Given the description of an element on the screen output the (x, y) to click on. 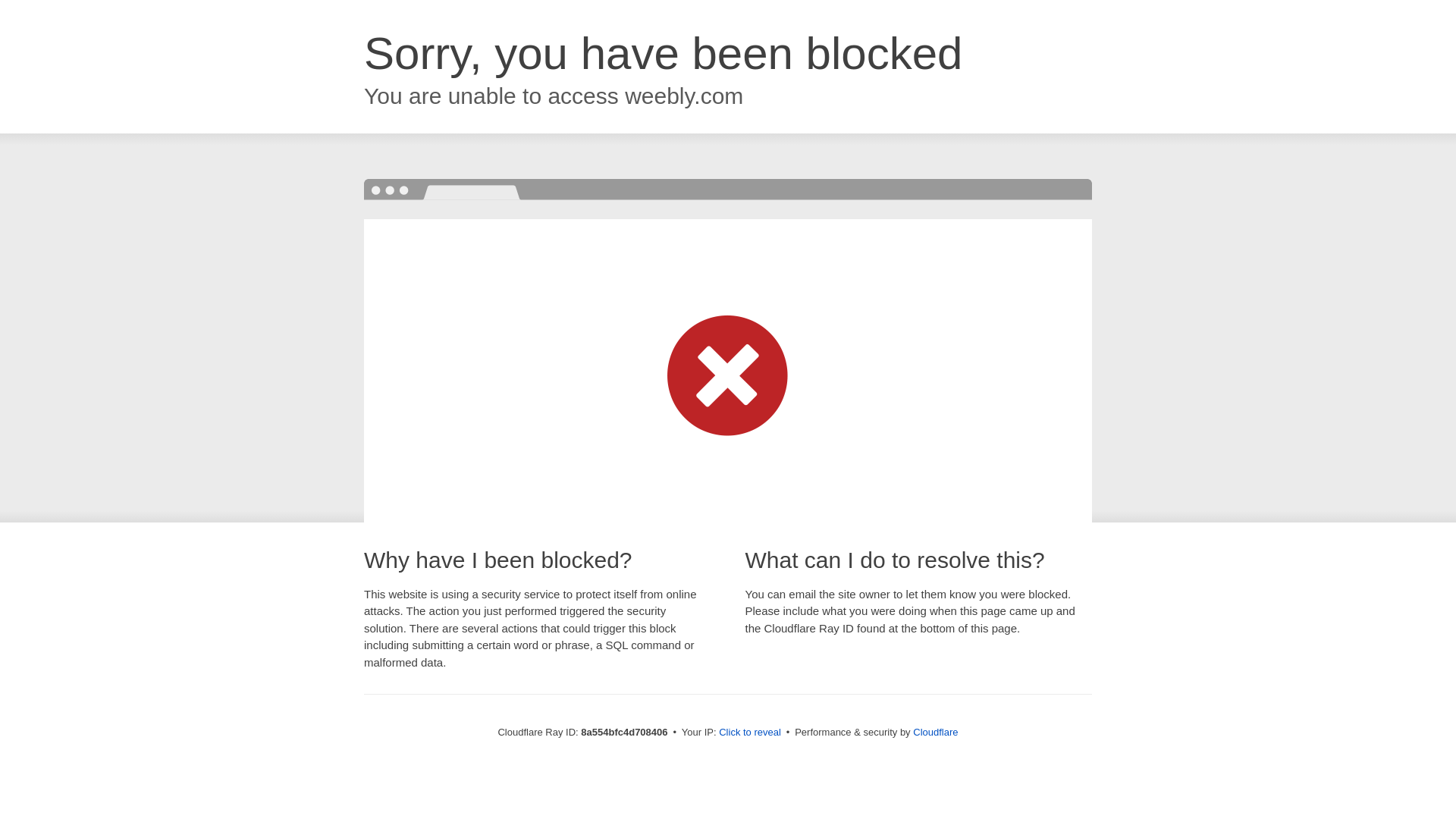
Click to reveal (749, 732)
Cloudflare (935, 731)
